Given the description of an element on the screen output the (x, y) to click on. 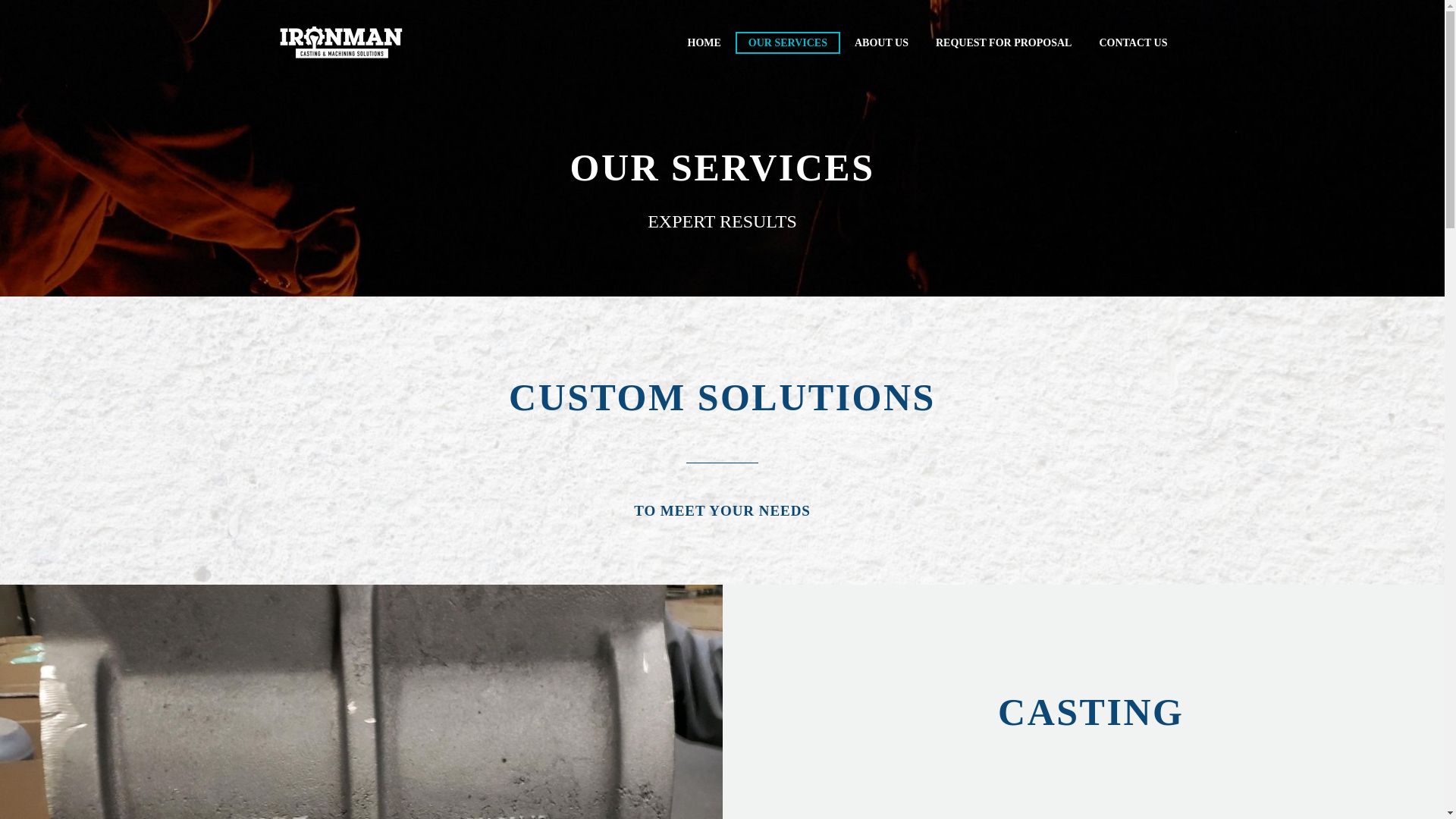
OUR SERVICES (787, 42)
REQUEST FOR PROPOSAL (1003, 42)
ABOUT US (881, 42)
HOME (704, 42)
CONTACT US (1132, 42)
